Given the description of an element on the screen output the (x, y) to click on. 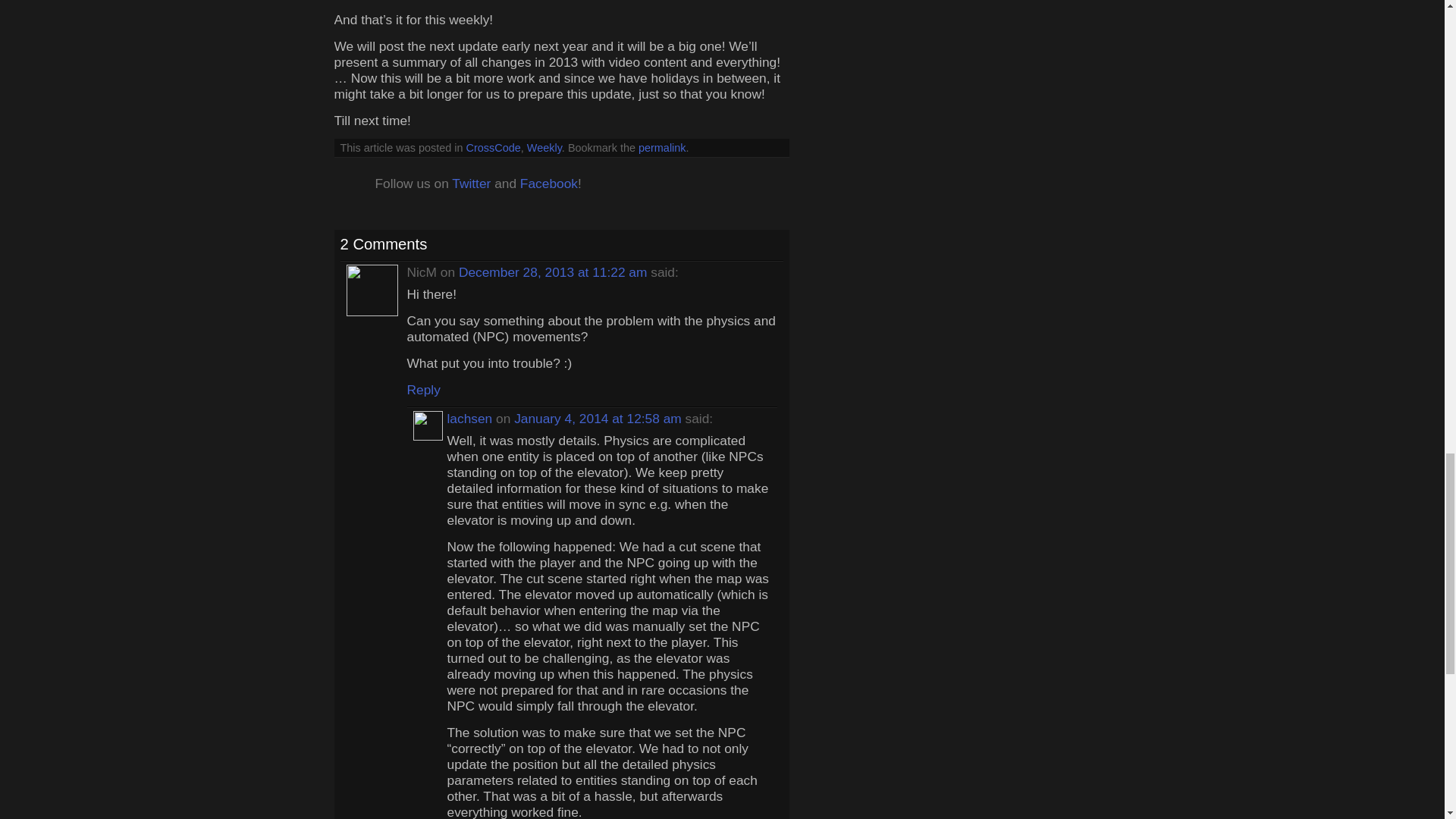
lachsen (469, 418)
Permalink to this comment (598, 418)
Reply (422, 389)
Facebook (548, 183)
Twitter (470, 183)
CrossCode (493, 147)
December 28, 2013 at 11:22 am (554, 272)
permalink (662, 147)
January 4, 2014 at 12:58 am (598, 418)
Permalink to this comment (554, 272)
